Given the description of an element on the screen output the (x, y) to click on. 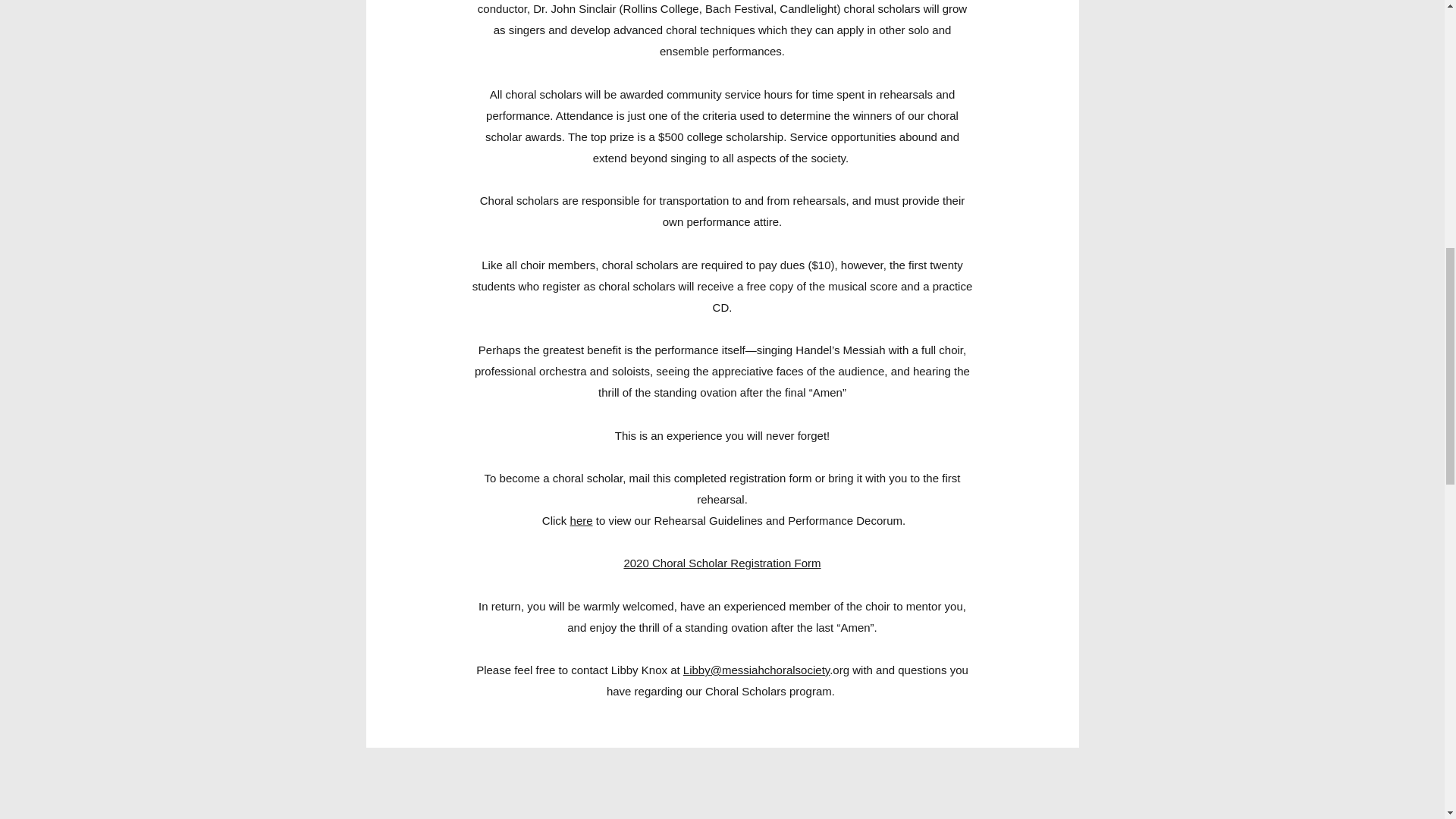
here (581, 520)
2020 Choral Scholar Registration Form (722, 562)
